Given the description of an element on the screen output the (x, y) to click on. 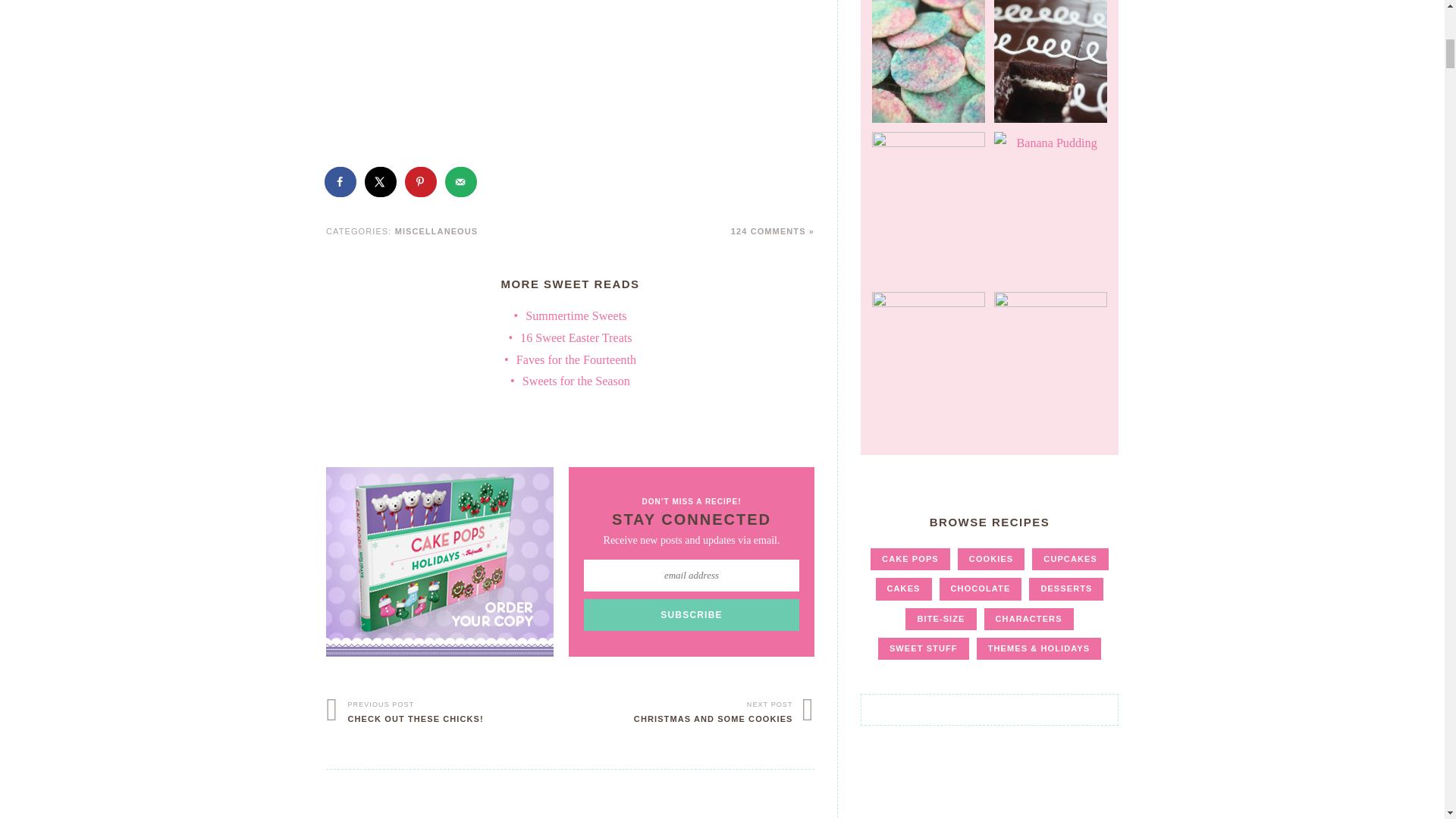
Share on X (381, 182)
Share on Facebook (341, 182)
Save to Pinterest (421, 182)
Send over email (461, 182)
